Given the description of an element on the screen output the (x, y) to click on. 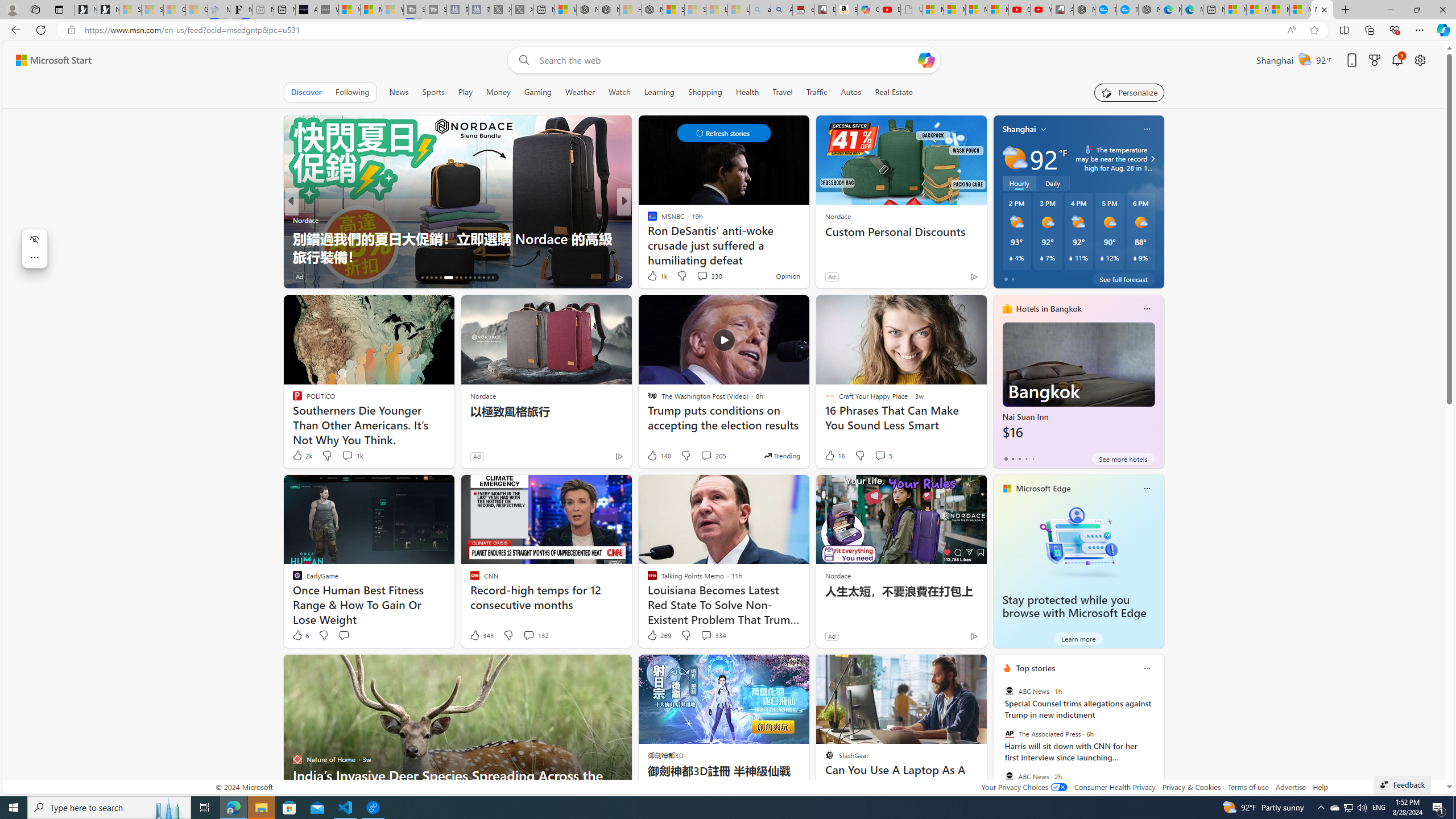
Comments turned off for this story (695, 276)
View comments 6 Comment (6, 276)
Mini menu on text selection (34, 255)
View comments 5 Comment (879, 455)
Mini menu on text selection (33, 248)
18 Ways to Tank Your Respect: Behaviors That Turn People Off (807, 247)
View comments 353 Comment (709, 276)
Hide this story (952, 668)
